Given the description of an element on the screen output the (x, y) to click on. 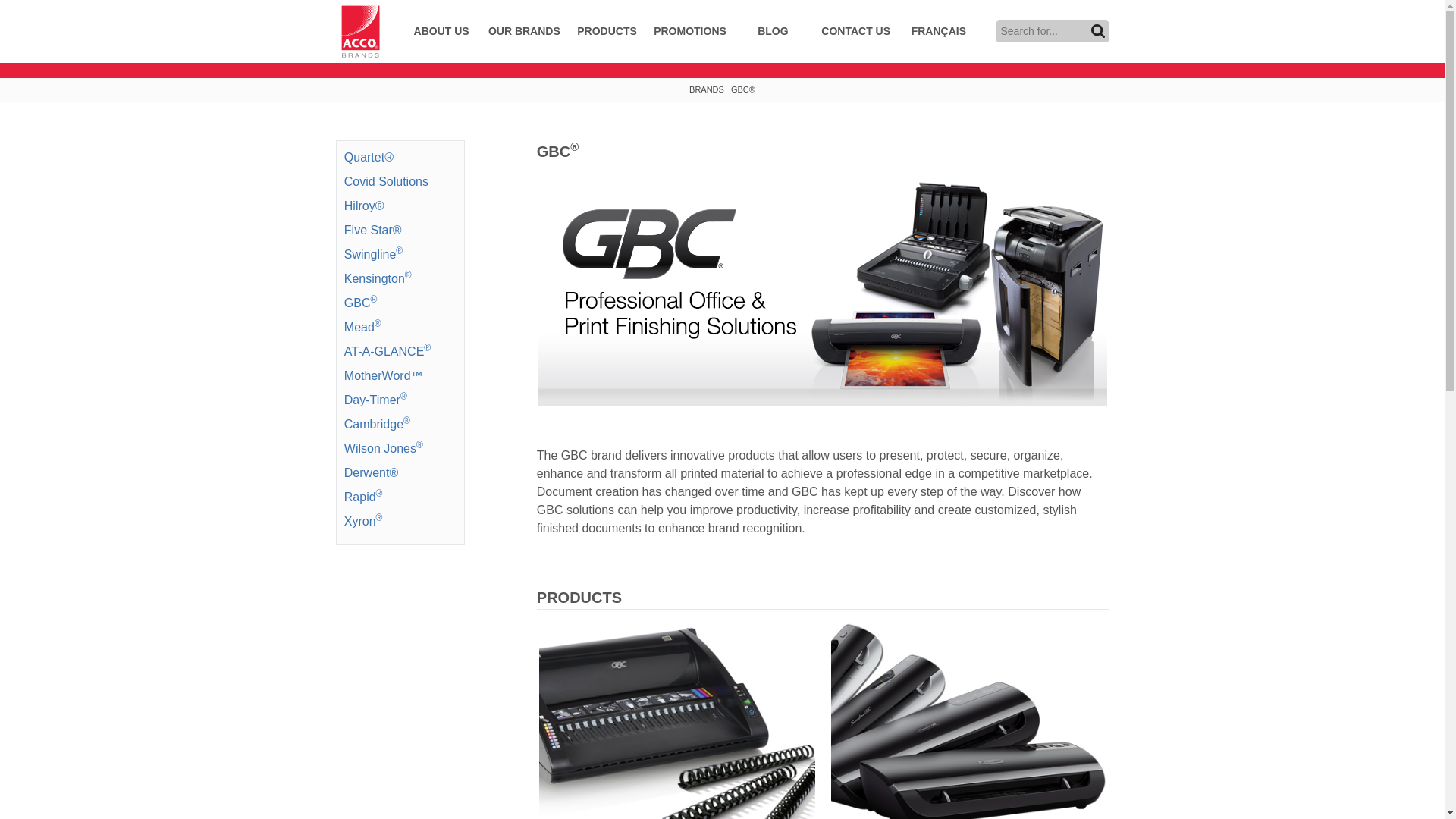
PRODUCTS (606, 31)
ABOUT US (441, 31)
OUR BRANDS (524, 31)
